Given the description of an element on the screen output the (x, y) to click on. 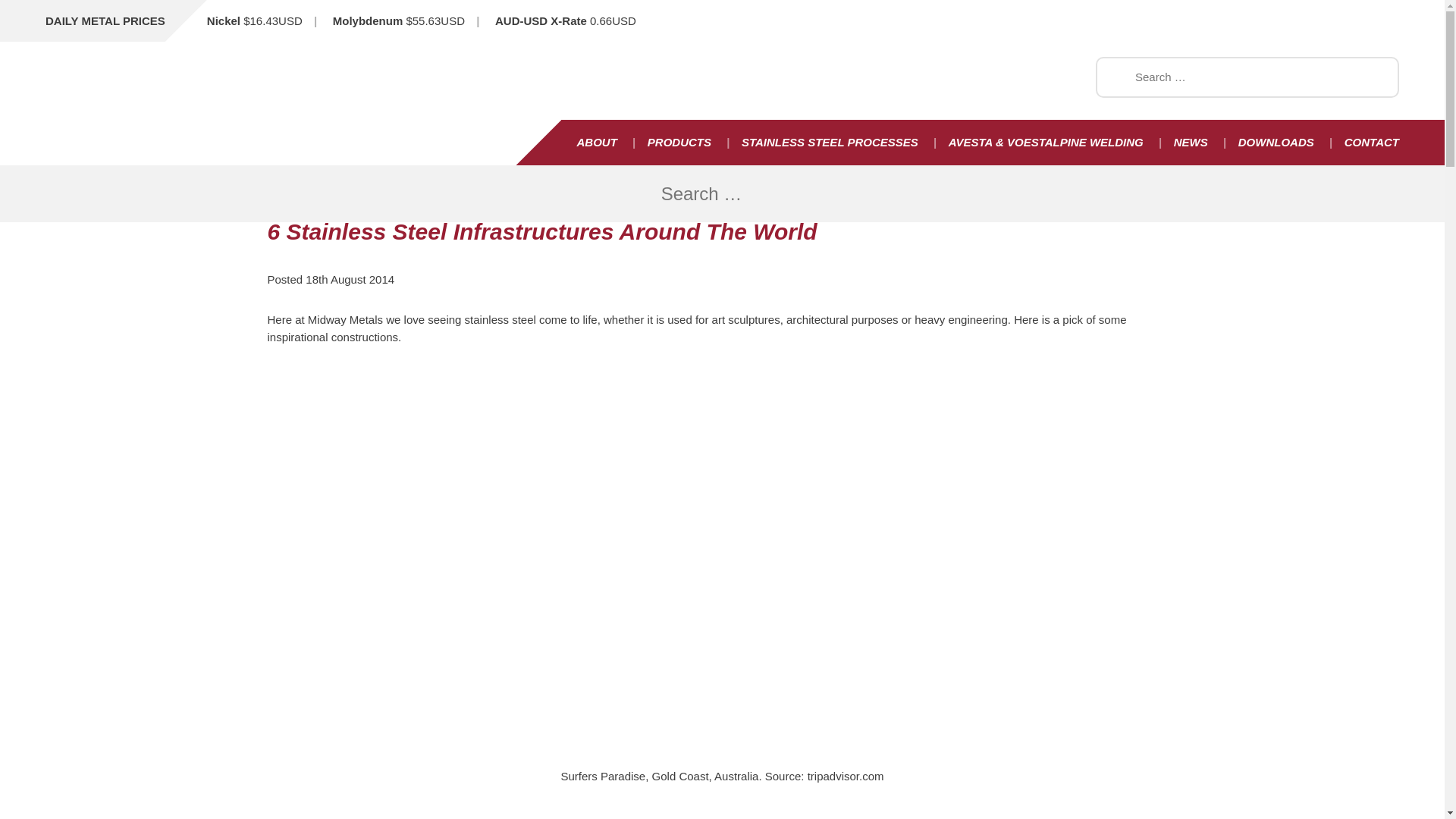
STAINLESS STEEL PROCESSES Element type: text (829, 142)
Close Element type: text (1387, 193)
ABOUT Element type: text (596, 142)
PRODUCTS Element type: text (679, 142)
DOWNLOADS Element type: text (1276, 142)
AVESTA & VOESTALPINE WELDING Element type: text (1045, 142)
Search Element type: text (21, 7)
Search Element type: text (28, 12)
NEWS Element type: text (1190, 142)
CONTACT Element type: text (1364, 142)
